Given the description of an element on the screen output the (x, y) to click on. 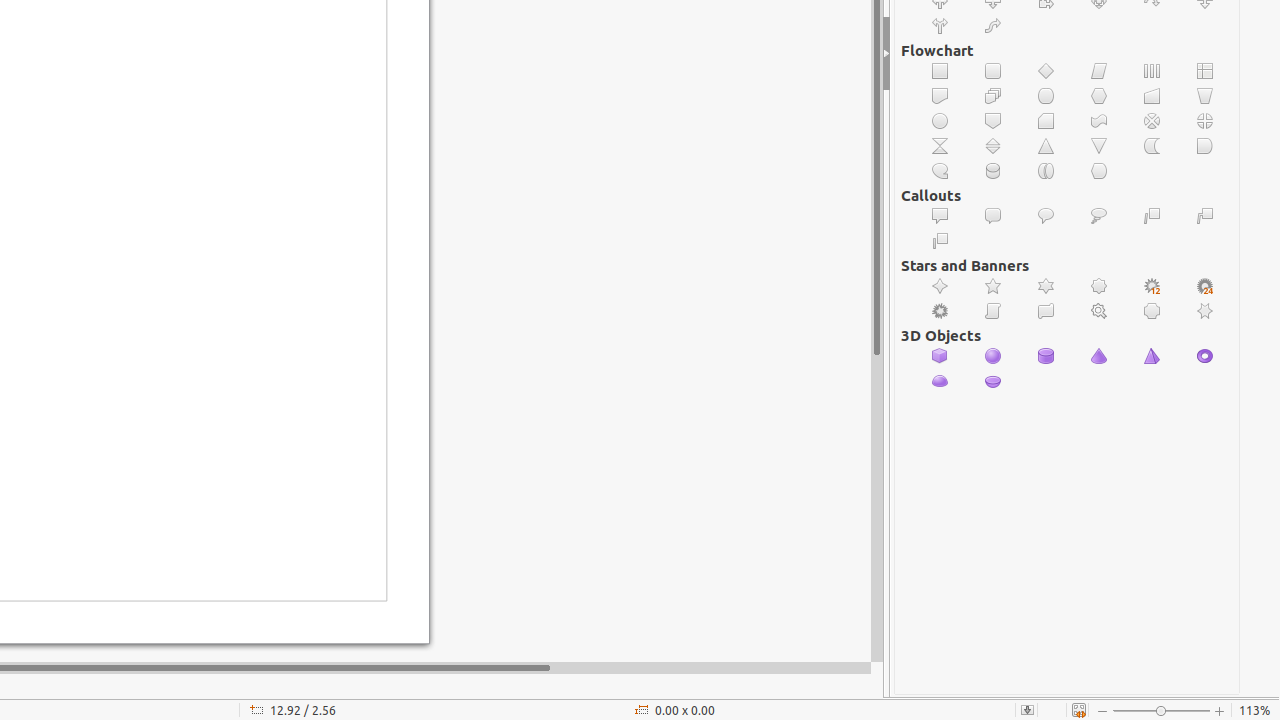
Flowchart: Merge Element type: list-item (1099, 146)
Flowchart: Manual Operation Element type: list-item (1205, 96)
Right or Left Arrow Element type: list-item (940, 26)
Flowchart: Connector Element type: list-item (940, 121)
Flowchart: Preparation Element type: list-item (1099, 96)
